Given the description of an element on the screen output the (x, y) to click on. 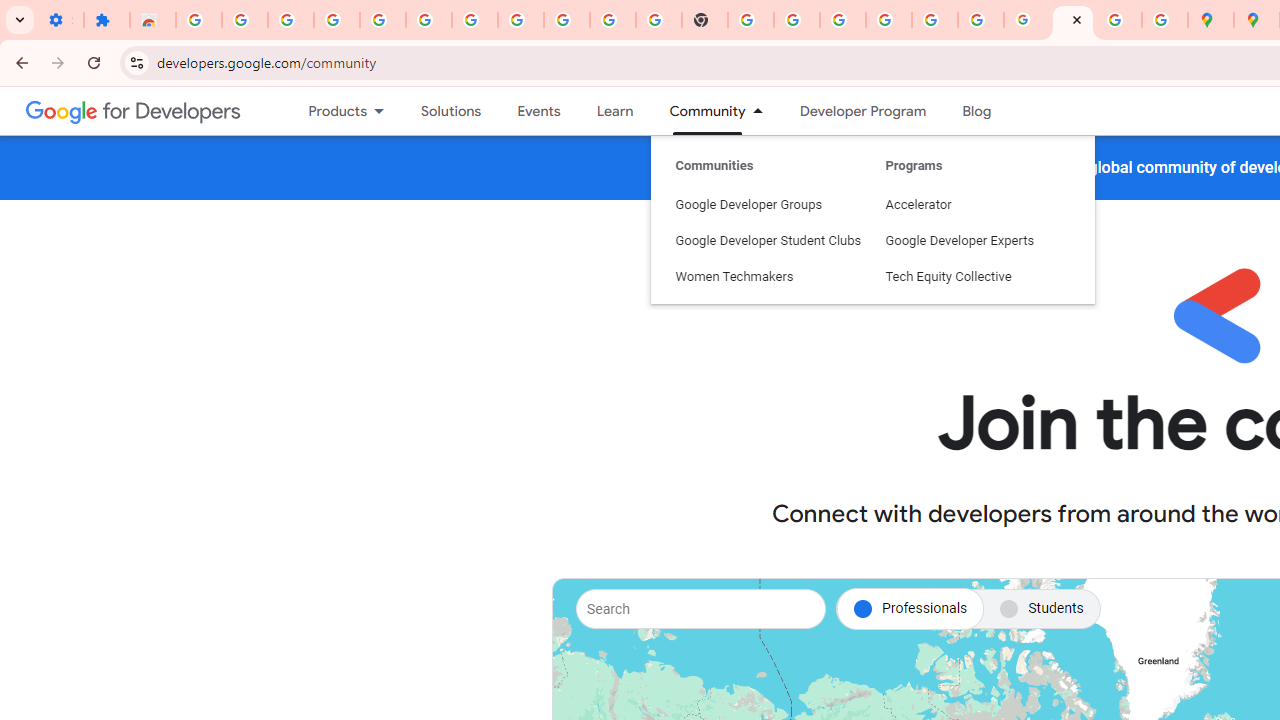
Solutions (451, 111)
Reviews: Helix Fruit Jump Arcade Game (153, 20)
Google Account (567, 20)
Safety in Our Products - Google Safety Center (1164, 20)
Sign in - Google Accounts (198, 20)
Google for Developers (133, 110)
